Given the description of an element on the screen output the (x, y) to click on. 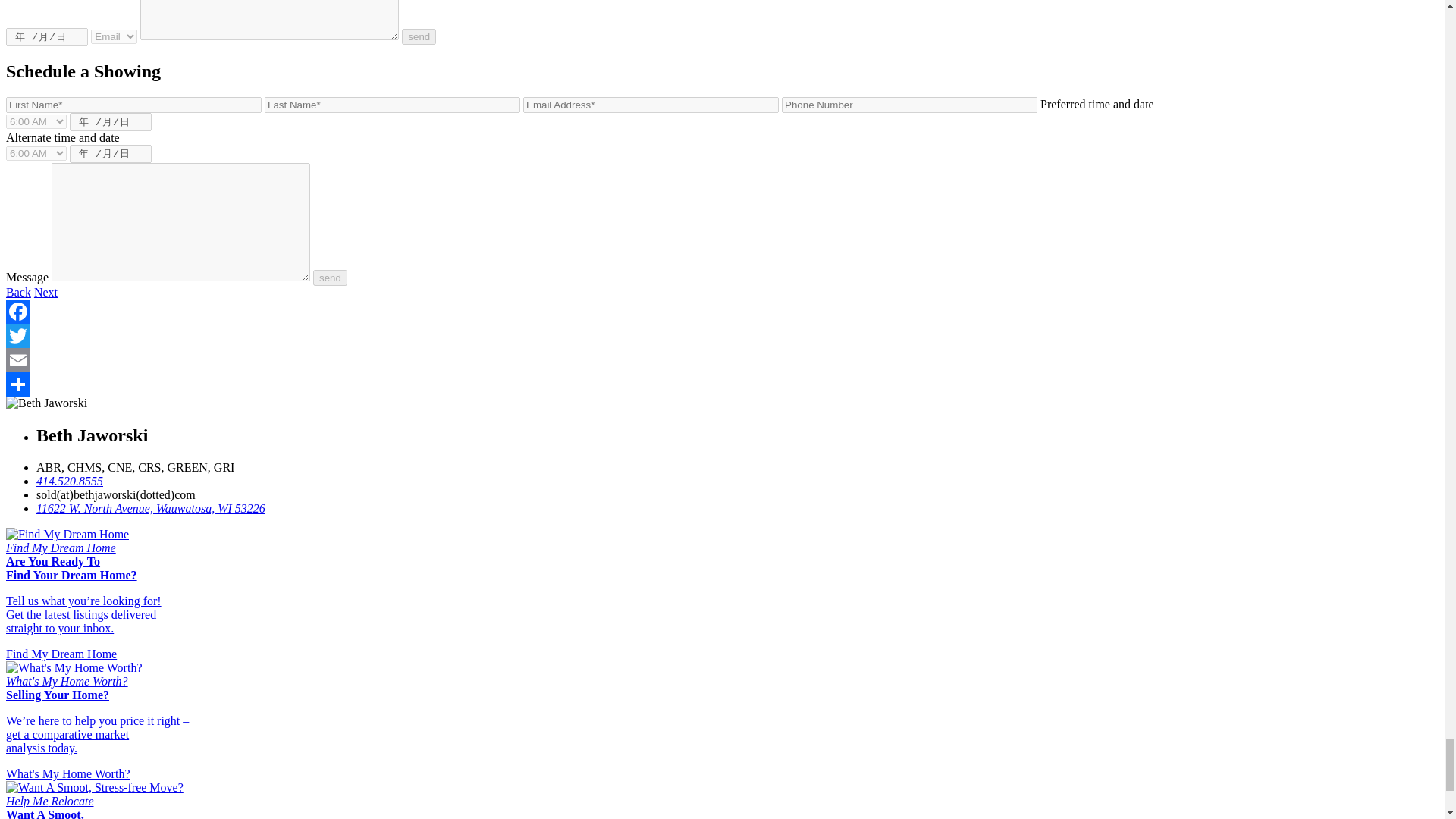
send (418, 36)
